Given the description of an element on the screen output the (x, y) to click on. 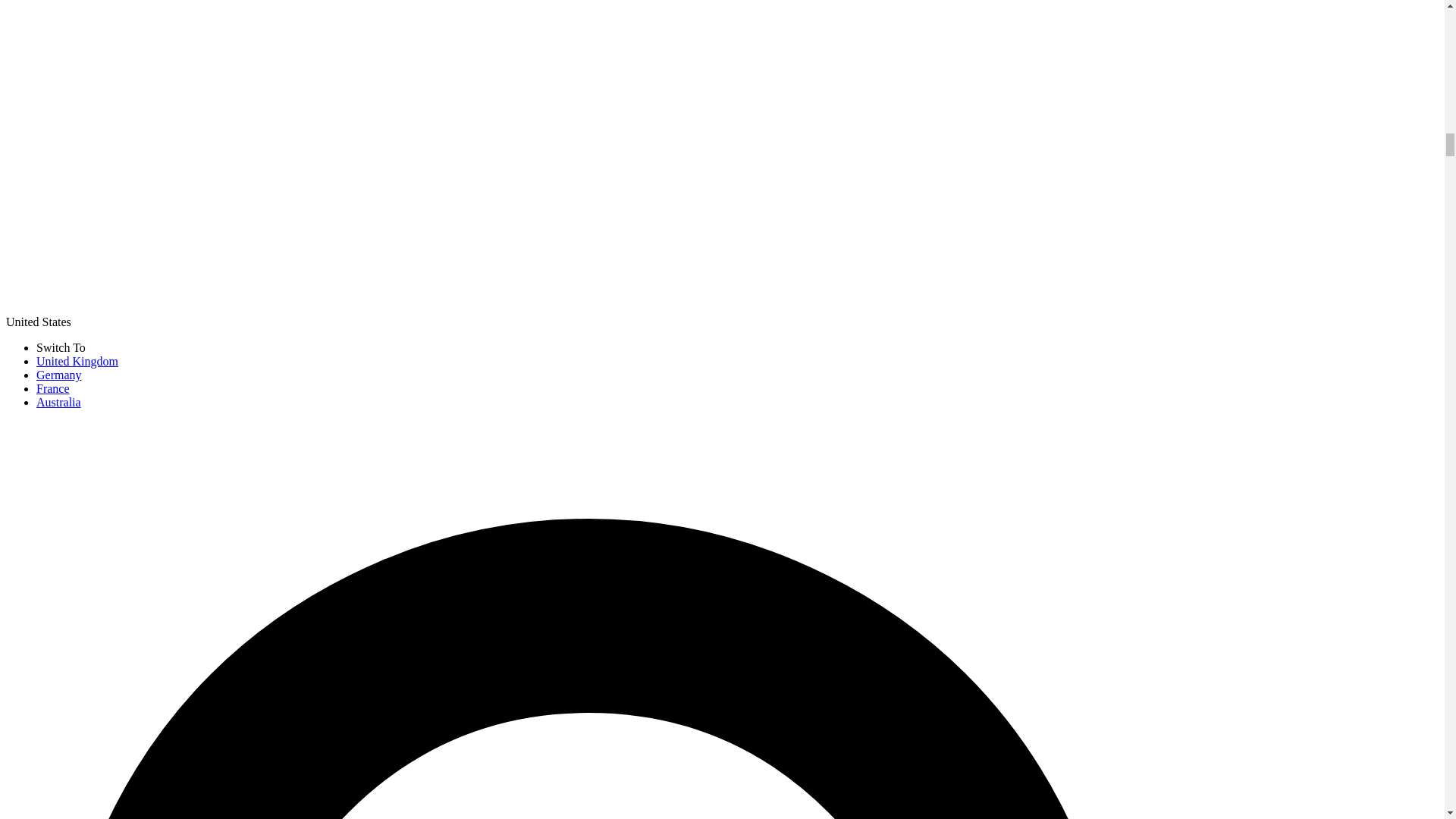
Germany (58, 374)
France (52, 388)
Australia (58, 401)
United Kingdom (76, 360)
